Given the description of an element on the screen output the (x, y) to click on. 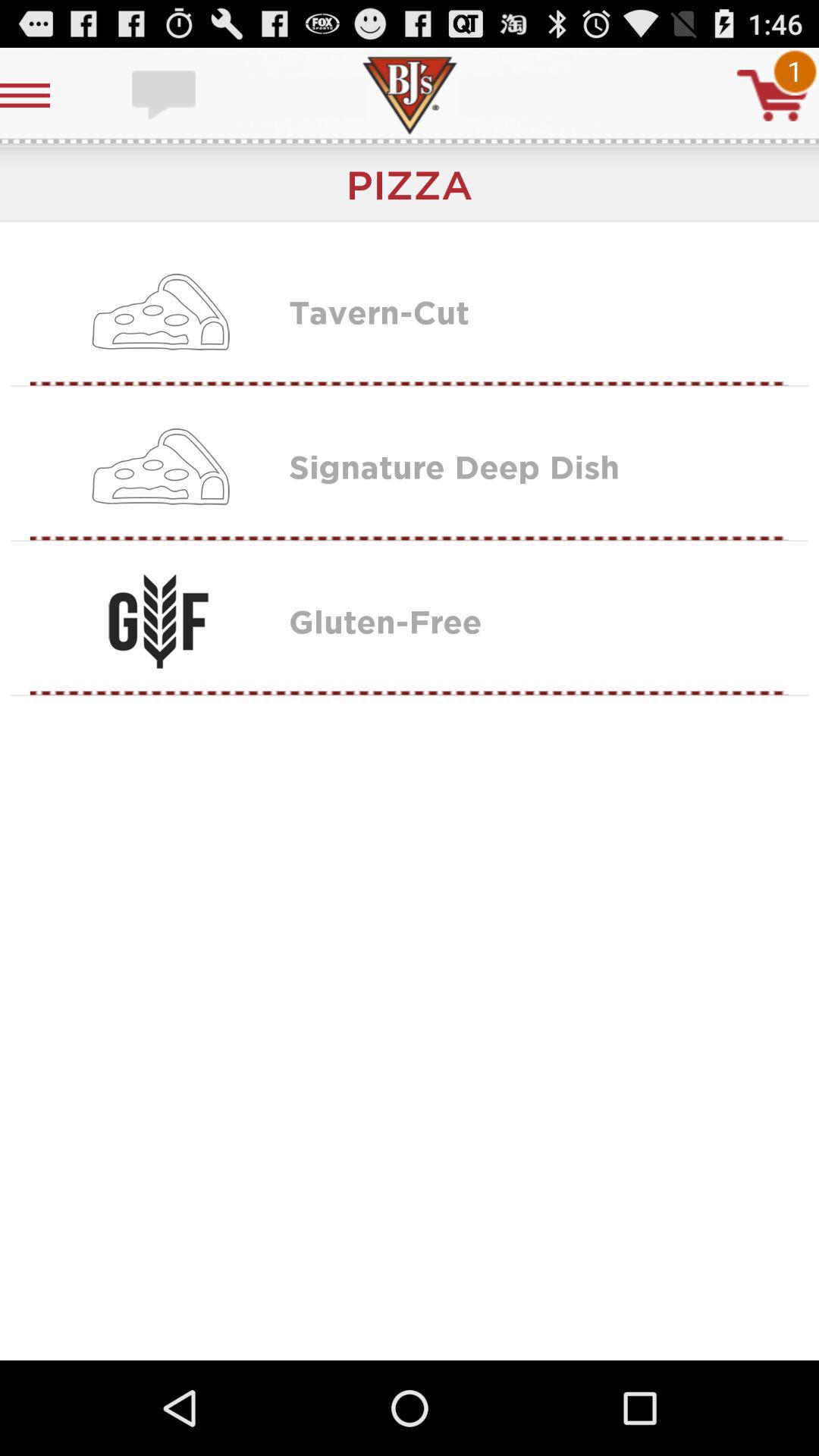
message box (165, 95)
